Given the description of an element on the screen output the (x, y) to click on. 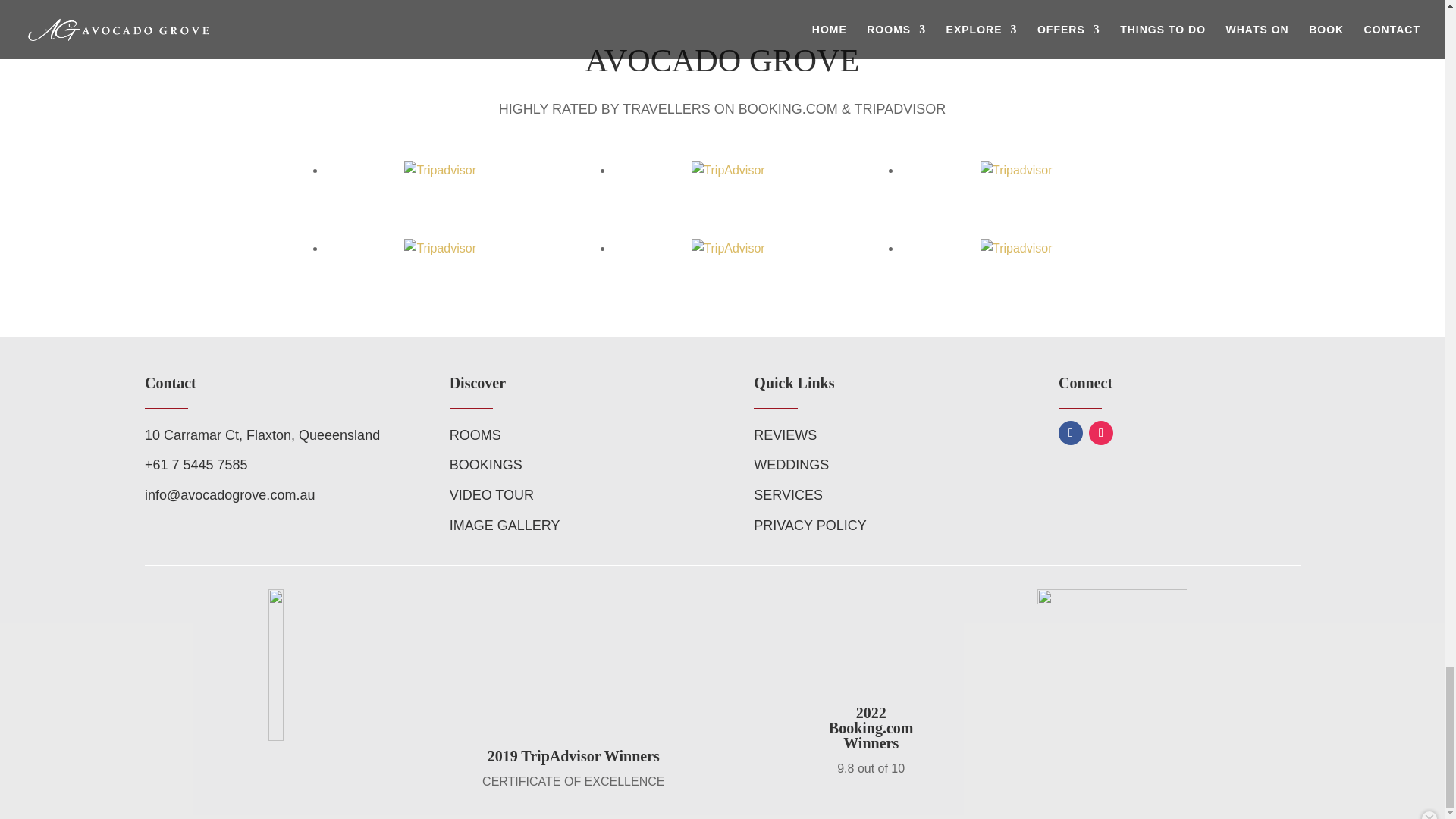
Follow on Instagram (1101, 432)
Follow on Facebook (1070, 432)
BOQE-Stamp-2022 (1112, 663)
